Given the description of an element on the screen output the (x, y) to click on. 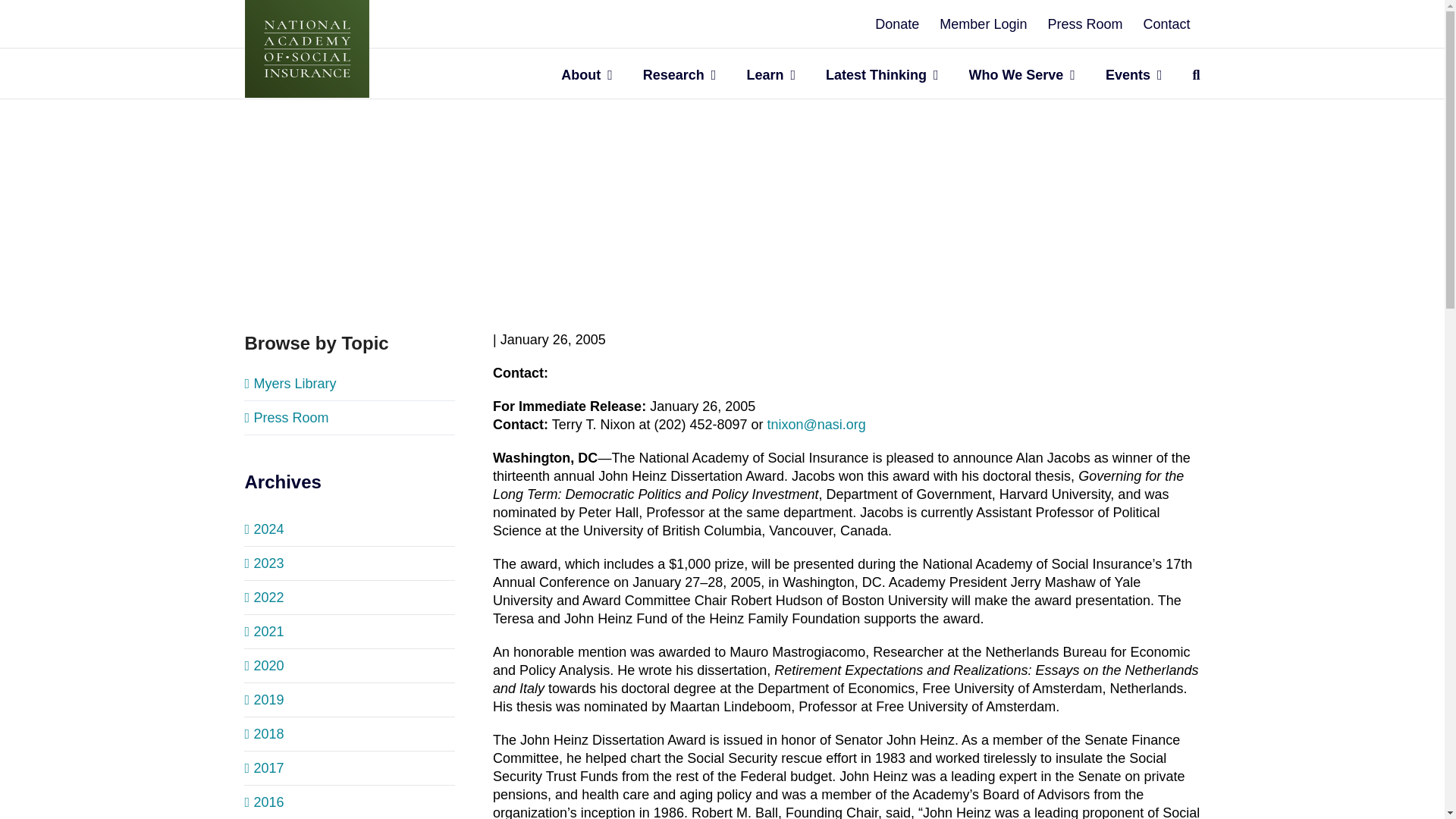
Donate (896, 23)
Member Login (983, 23)
Latest Thinking (882, 72)
Learn (769, 72)
Press Room (1084, 23)
About (586, 72)
Contact (1165, 23)
Research (679, 72)
